Given the description of an element on the screen output the (x, y) to click on. 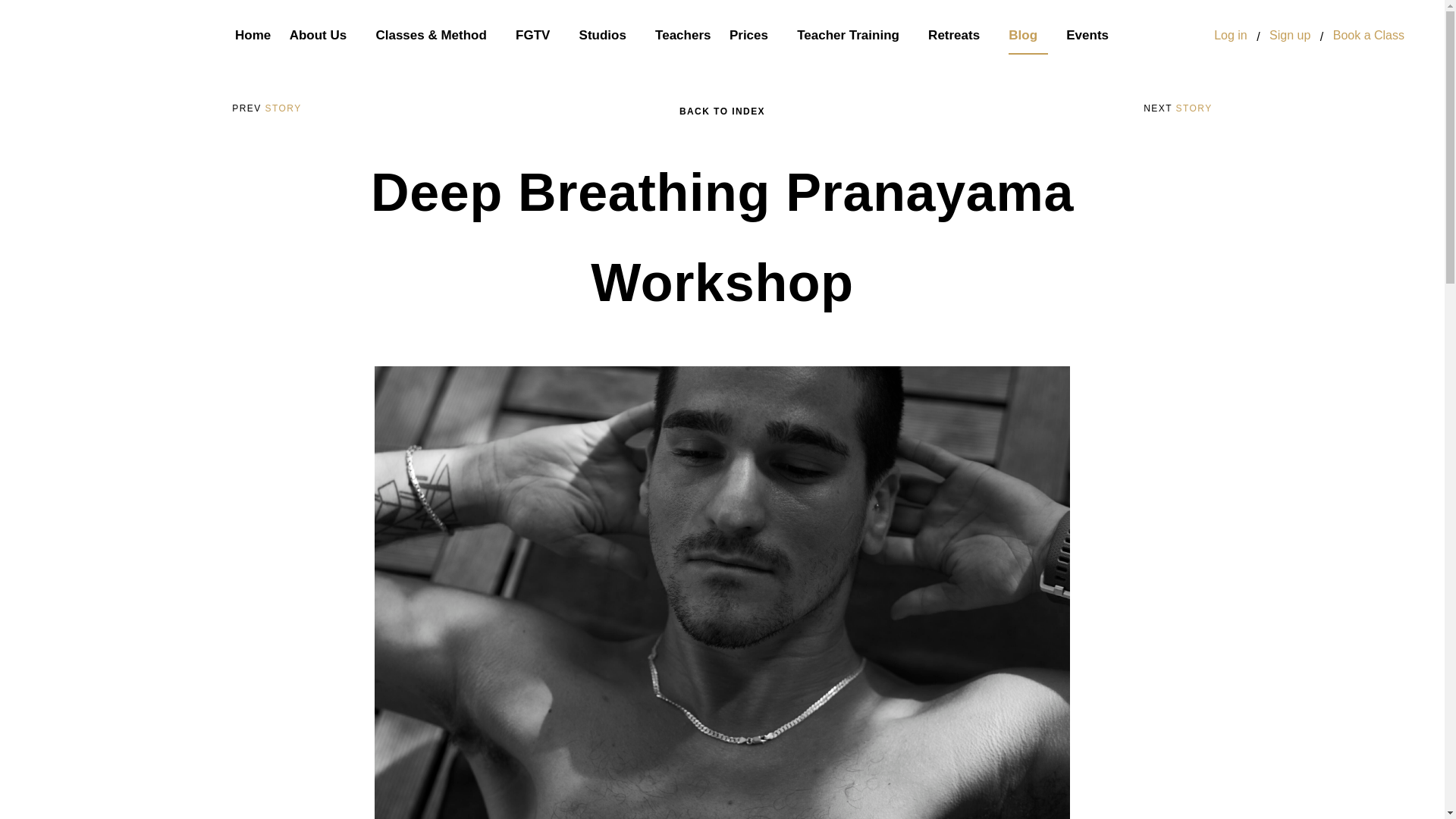
About Us (322, 35)
Teachers (682, 35)
FGTV (537, 35)
Home (252, 35)
Studios (608, 35)
Prices (753, 35)
Teacher Training (853, 35)
Retreats (959, 35)
